Given the description of an element on the screen output the (x, y) to click on. 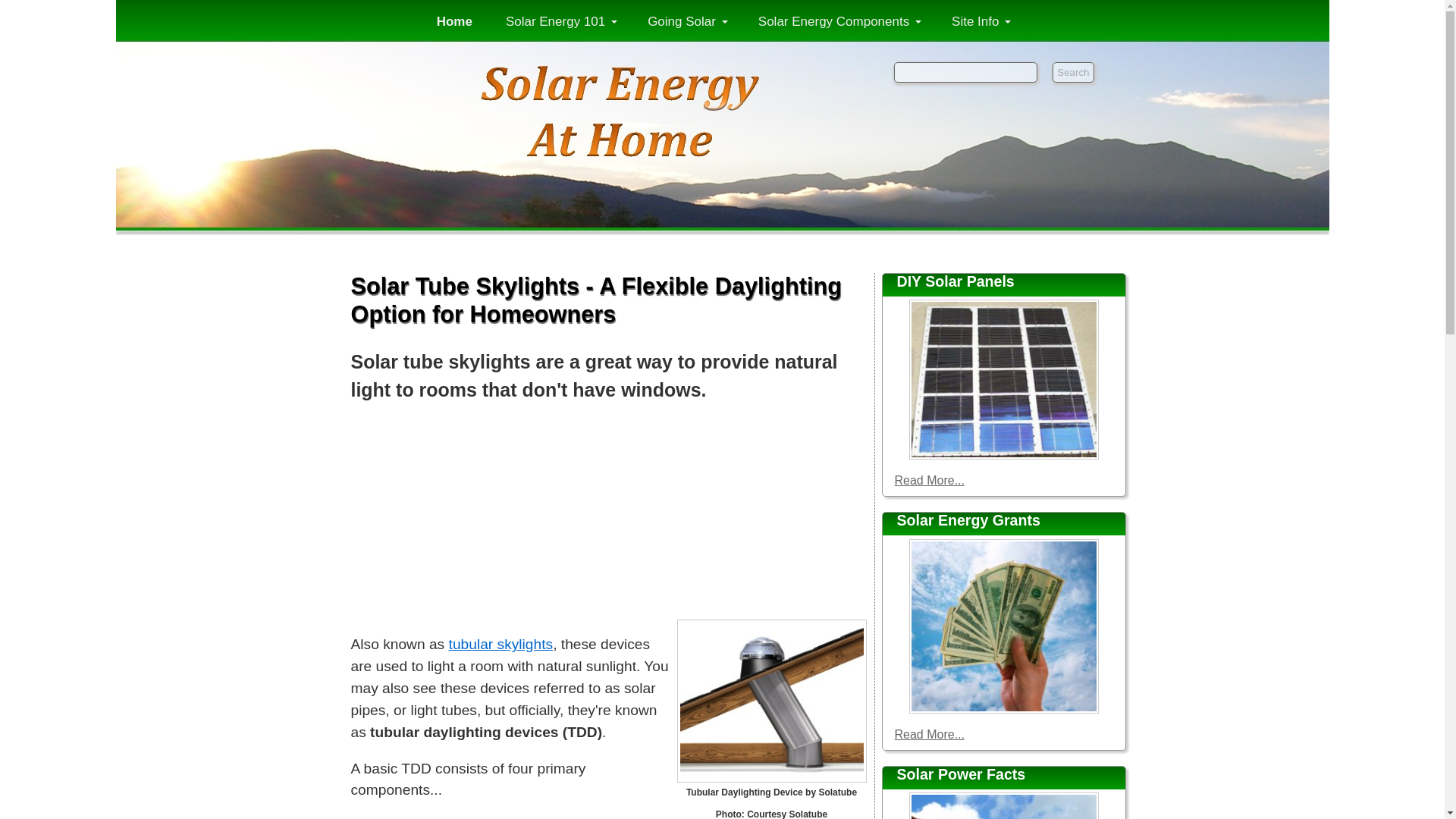
Home Page (721, 152)
tubular skylights (500, 643)
Search (1072, 72)
Search (1072, 72)
Advertisement (608, 517)
Home (453, 21)
